Given the description of an element on the screen output the (x, y) to click on. 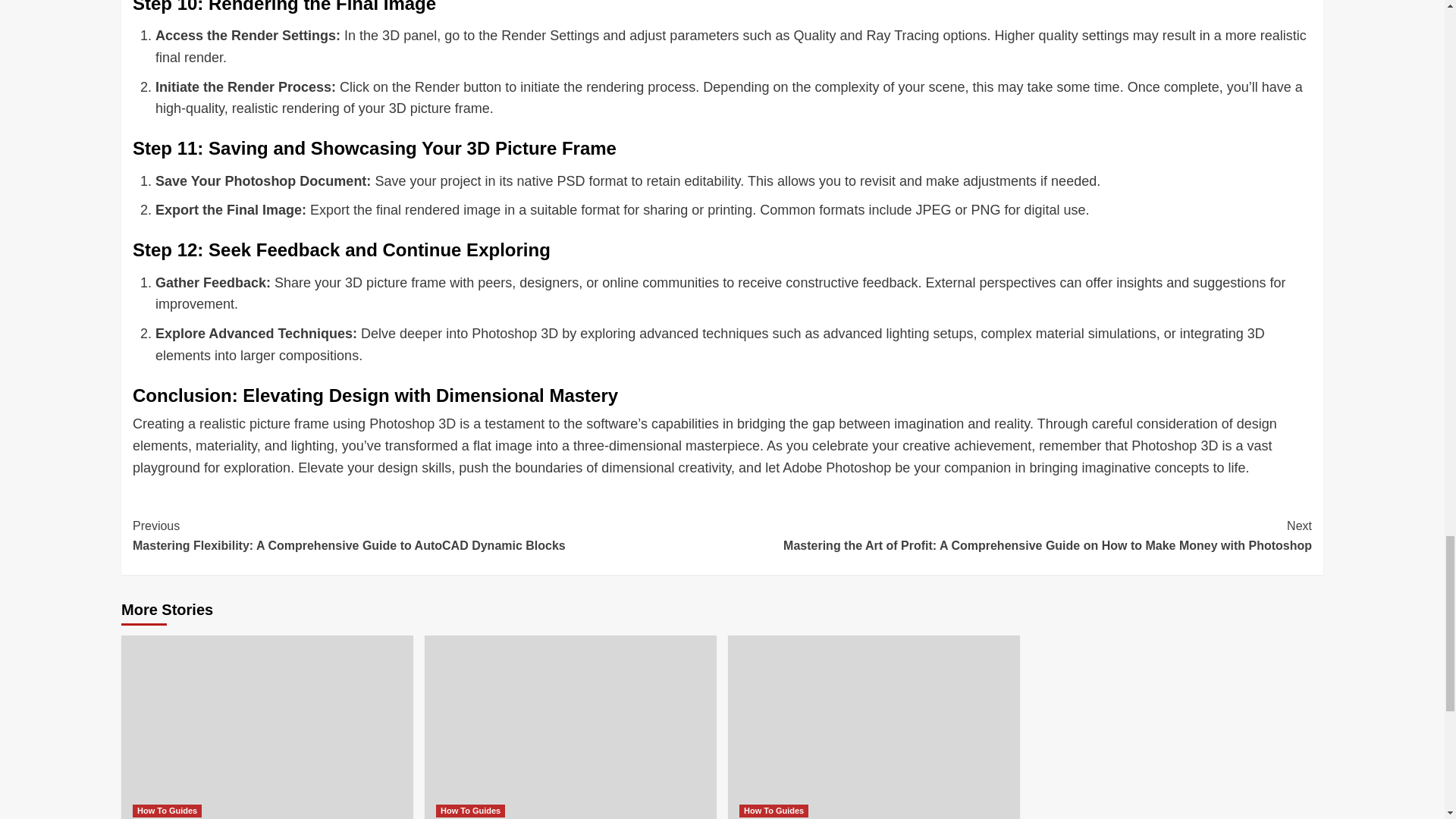
How To Guides (167, 810)
How To Guides (470, 810)
